Given the description of an element on the screen output the (x, y) to click on. 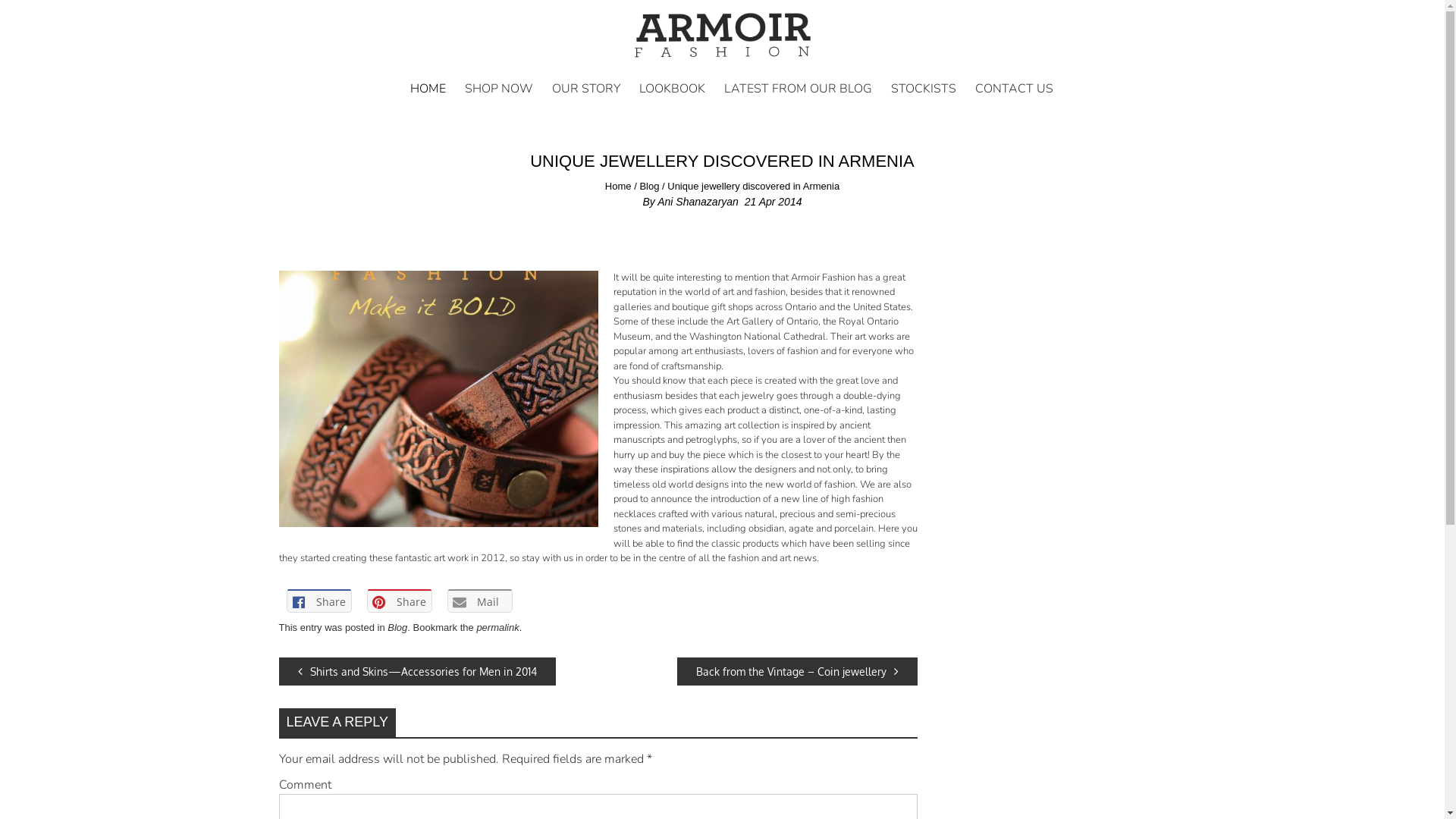
Ani Shanazaryan Element type: text (697, 201)
OUR STORY Element type: text (586, 88)
CONTACT US Element type: text (1014, 88)
Home Element type: text (618, 185)
Share Element type: text (399, 600)
SHOP NOW Element type: text (498, 88)
Share Element type: text (318, 600)
HOME Element type: text (427, 88)
Blog Element type: text (648, 185)
STOCKISTS Element type: text (923, 88)
Mail Element type: text (479, 600)
Blog Element type: text (397, 627)
permalink Element type: text (497, 627)
LATEST FROM OUR BLOG Element type: text (798, 88)
LOOKBOOK Element type: text (672, 88)
